Given the description of an element on the screen output the (x, y) to click on. 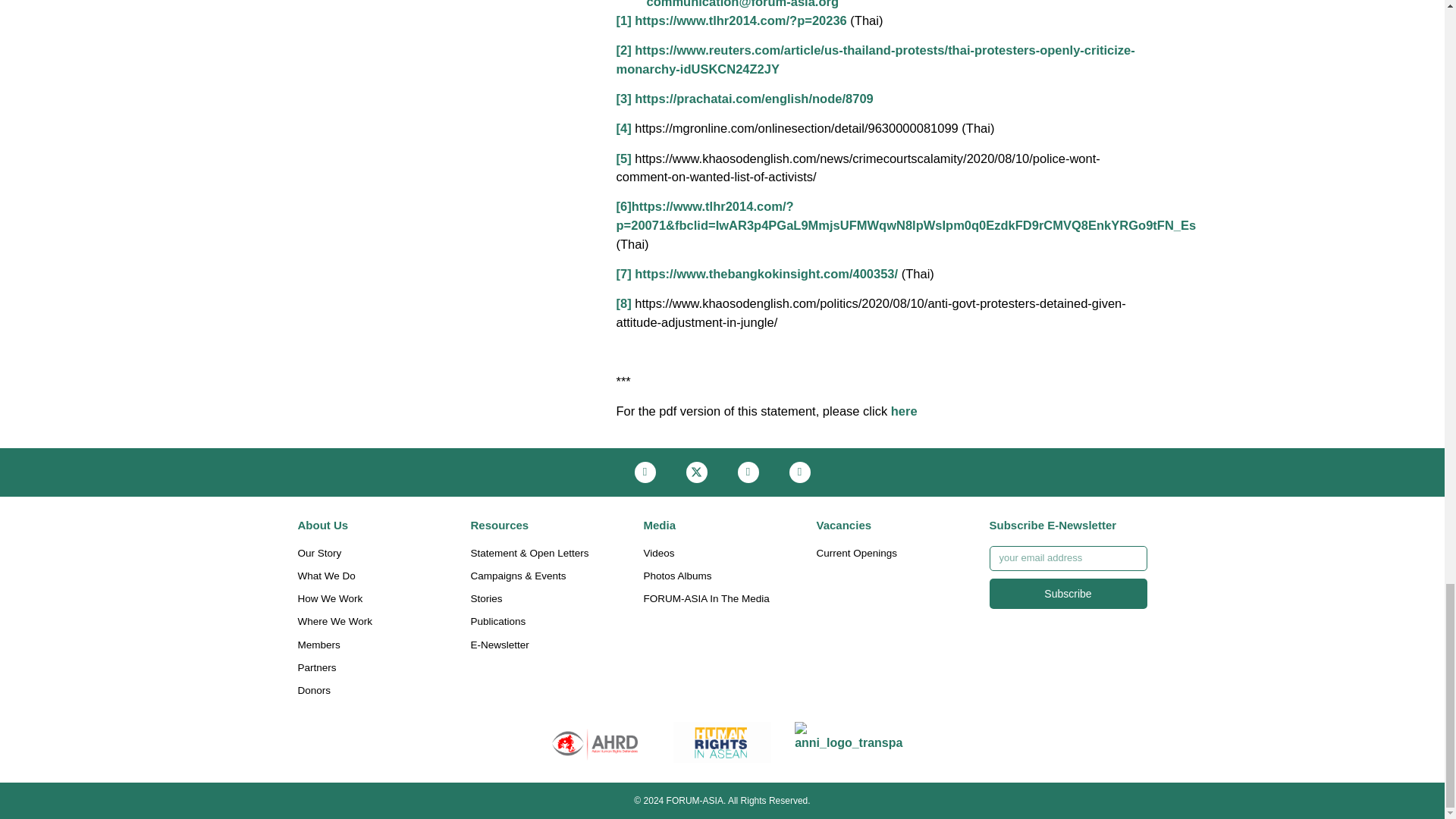
Default Title (848, 741)
Default Title (595, 741)
Default Title (722, 741)
